Given the description of an element on the screen output the (x, y) to click on. 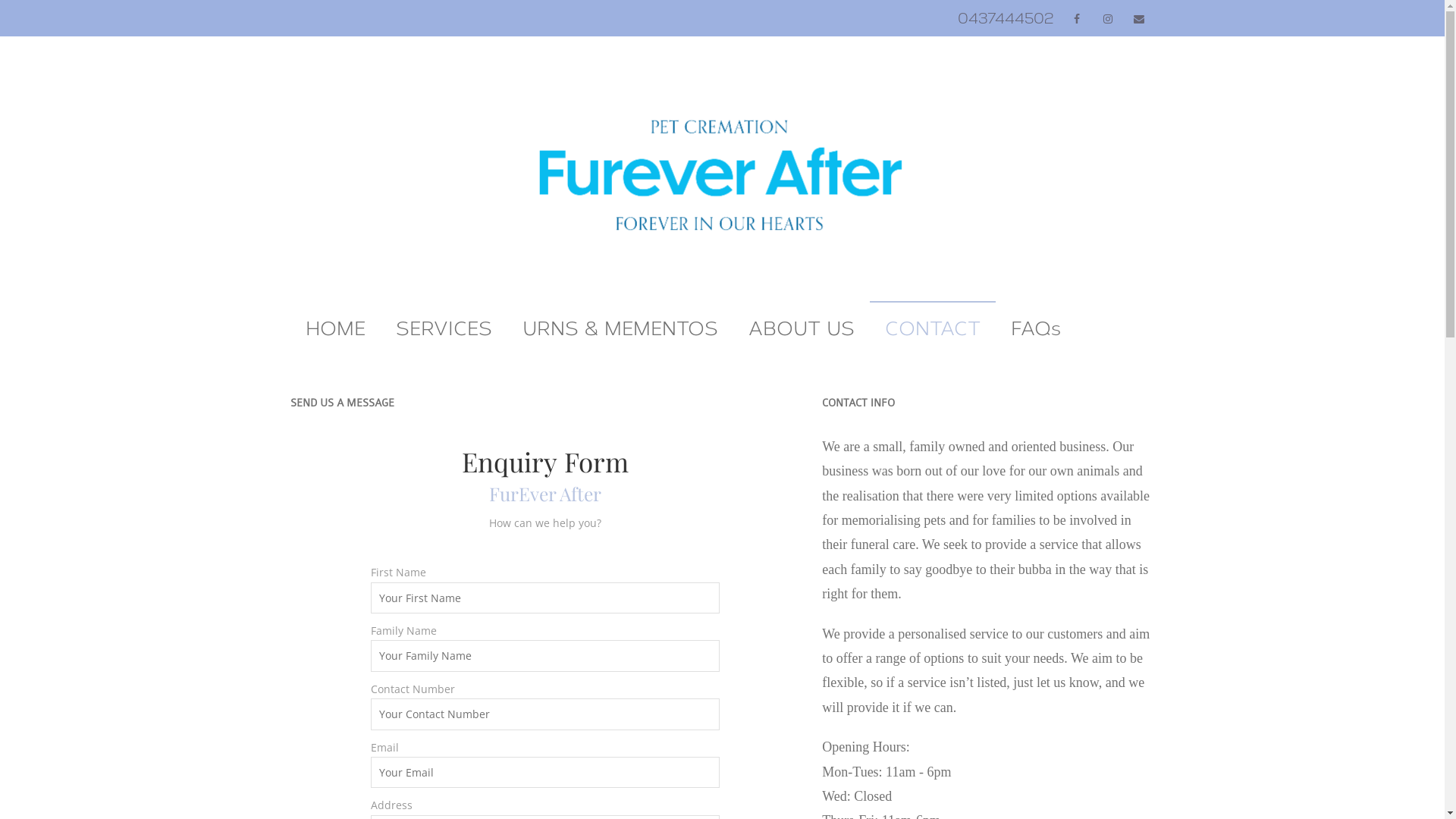
HOME Element type: text (334, 328)
FAQs Element type: text (1034, 328)
URNS & MEMENTOS Element type: text (619, 328)
CONTACT Element type: text (931, 328)
ABOUT US Element type: text (800, 328)
SERVICES Element type: text (443, 328)
